Given the description of an element on the screen output the (x, y) to click on. 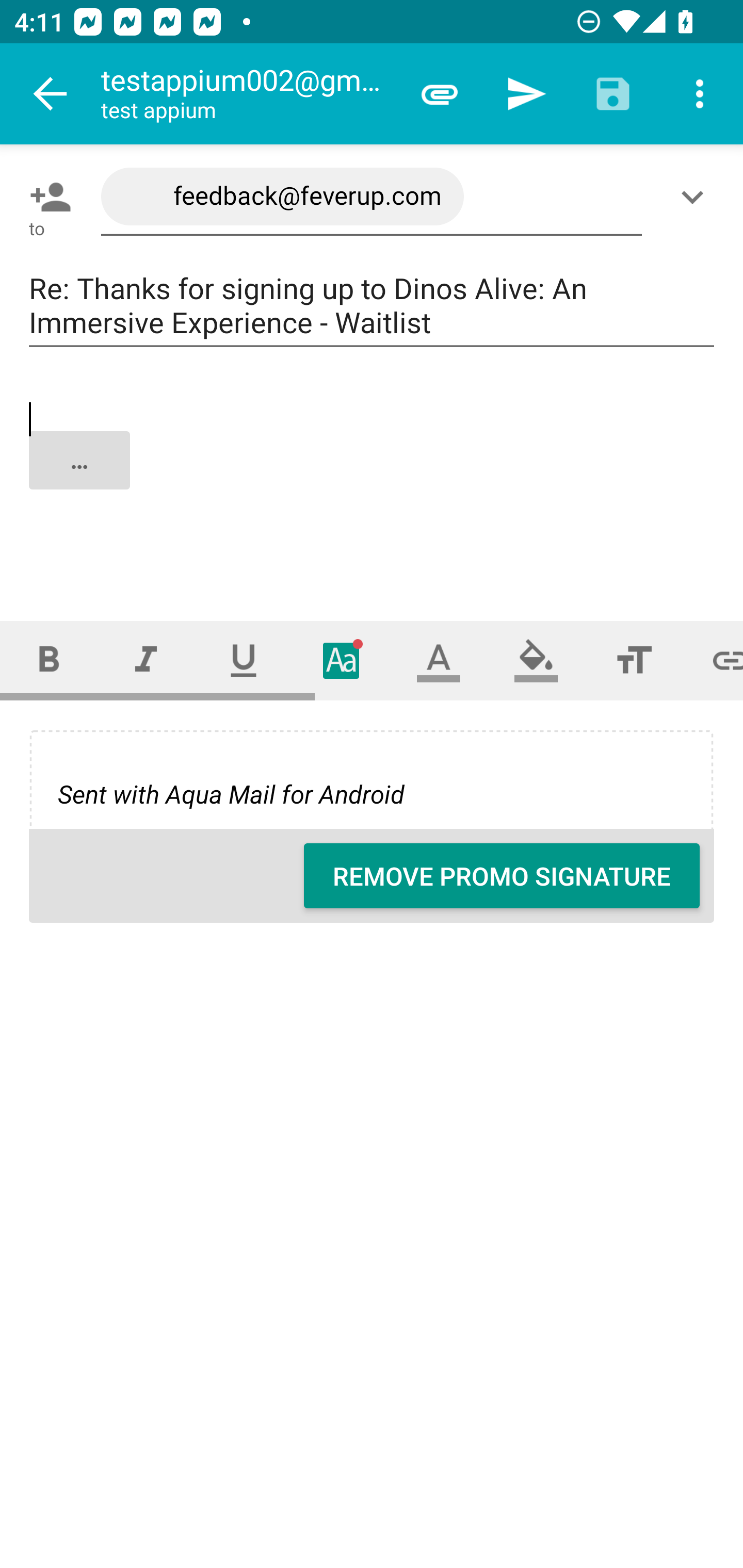
Navigate up (50, 93)
testappium002@gmail.com test appium (248, 93)
Attach (439, 93)
Send (525, 93)
Save (612, 93)
More options (699, 93)
feedback@feverup.com,  (371, 197)
Pick contact: To (46, 196)
Show/Add CC/BCC (696, 196)

…
 (372, 477)
Bold (48, 660)
Italic (145, 660)
Underline (243, 660)
Typeface (font) (341, 660)
Text color (438, 660)
Fill color (536, 660)
Font size (633, 660)
REMOVE PROMO SIGNATURE (501, 875)
